Given the description of an element on the screen output the (x, y) to click on. 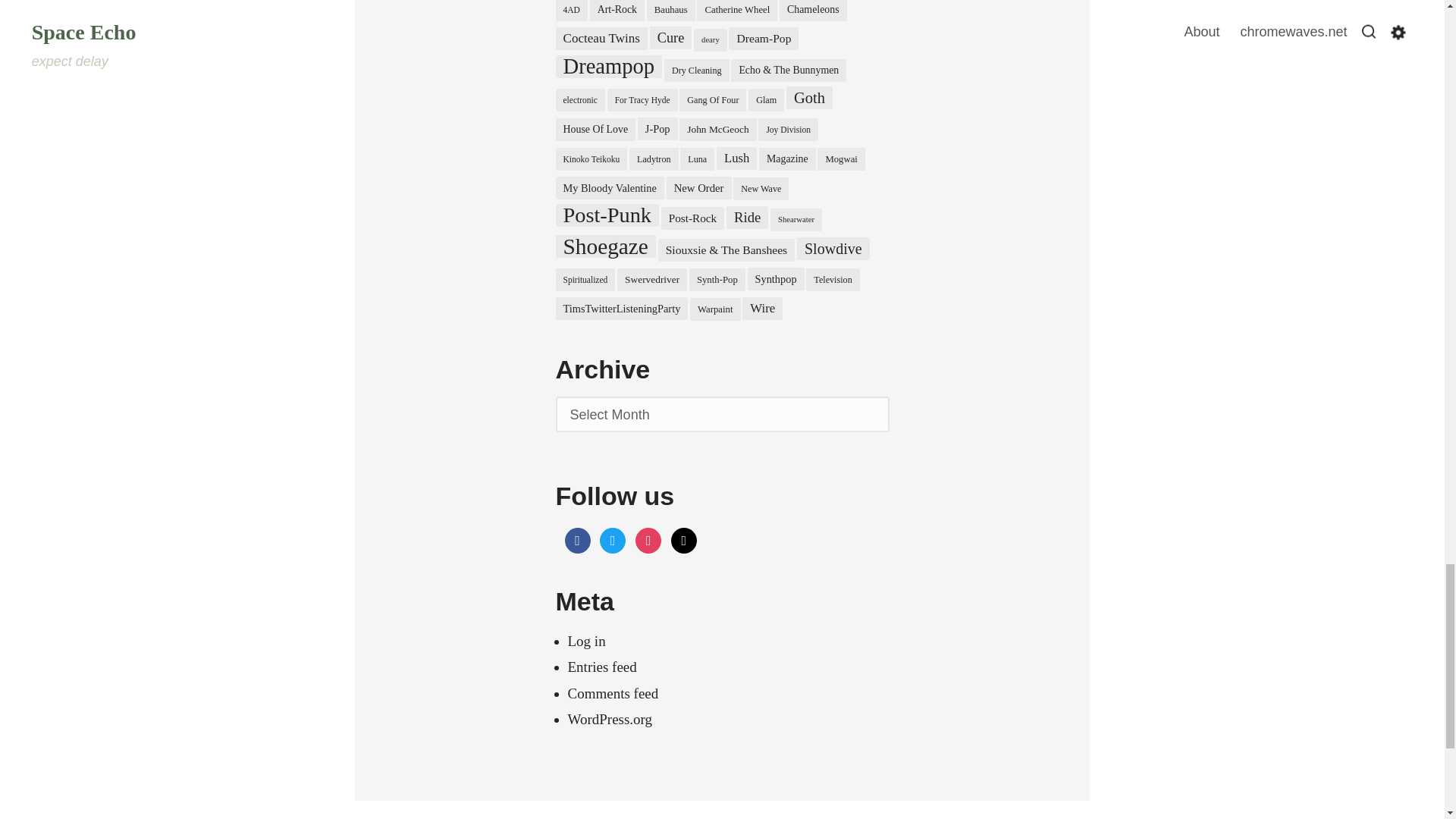
Cocteau Twins (600, 38)
4AD (570, 10)
deary (710, 39)
Default Label (684, 538)
Art-Rock (617, 10)
Twitter (612, 538)
Bauhaus (670, 10)
Chameleons (812, 10)
Catherine Wheel (737, 10)
Facebook (576, 538)
Cure (671, 37)
Instagram (647, 538)
